Given the description of an element on the screen output the (x, y) to click on. 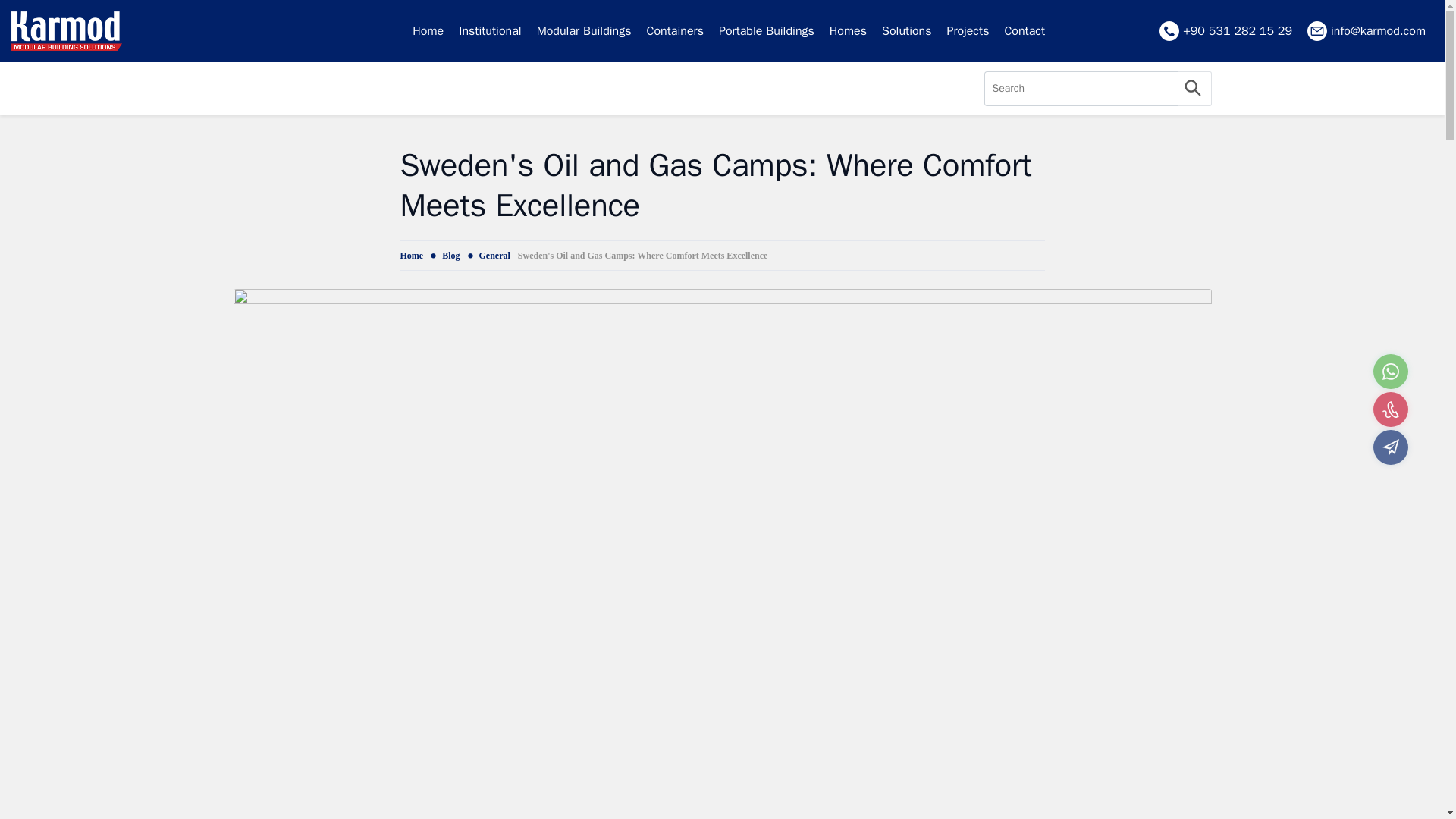
Institutional (489, 31)
Containers (675, 31)
Portable Buildings (766, 31)
Whatsapp (1390, 371)
Email (1390, 447)
Modular Buildings (584, 31)
Call Us (1390, 409)
